Given the description of an element on the screen output the (x, y) to click on. 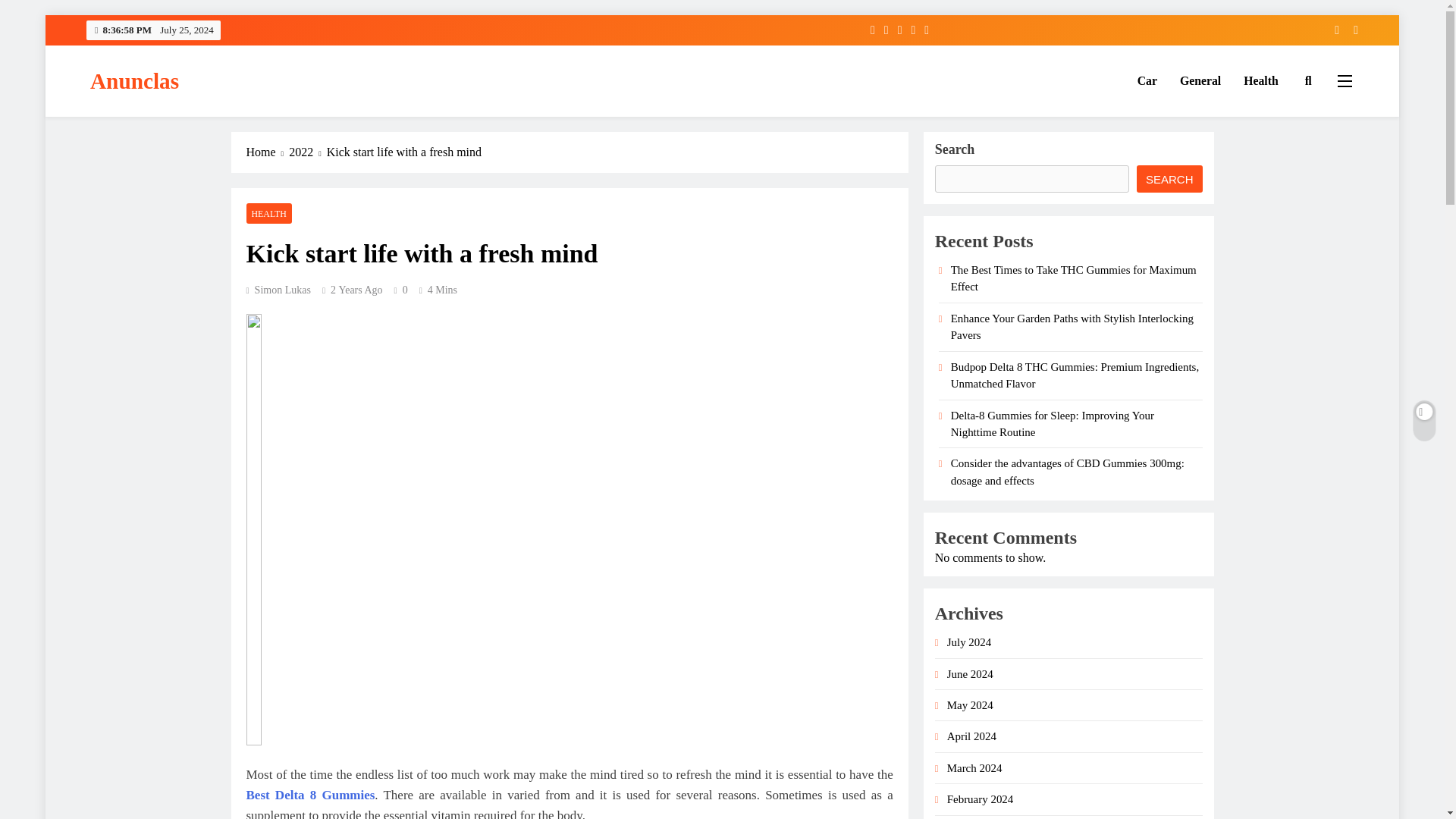
June 2024 (969, 674)
2 Years Ago (356, 289)
Delta-8 Gummies for Sleep: Improving Your Nighttime Routine (1052, 423)
Health (1260, 80)
Home (267, 152)
Simon Lukas (278, 289)
July 2024 (969, 642)
The Best Times to Take THC Gummies for Maximum Effect (1073, 277)
SEARCH (1169, 178)
Enhance Your Garden Paths with Stylish Interlocking Pavers (1071, 326)
Car (1147, 80)
HEALTH (268, 213)
2022 (307, 152)
